Given the description of an element on the screen output the (x, y) to click on. 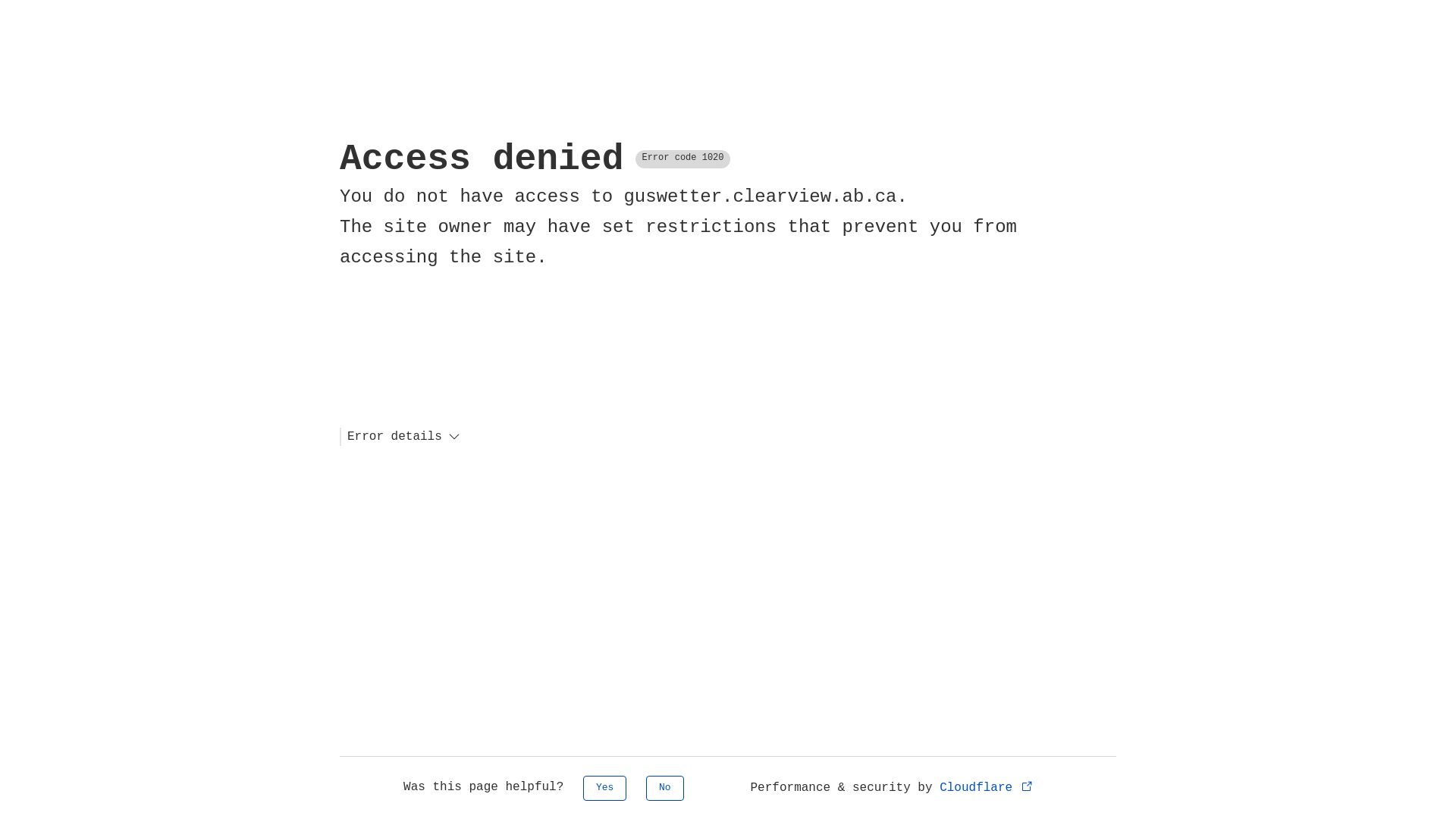
No Element type: text (665, 787)
Yes Element type: text (604, 787)
Cloudflare Element type: text (986, 787)
Opens in new tab Element type: hover (1027, 785)
